Given the description of an element on the screen output the (x, y) to click on. 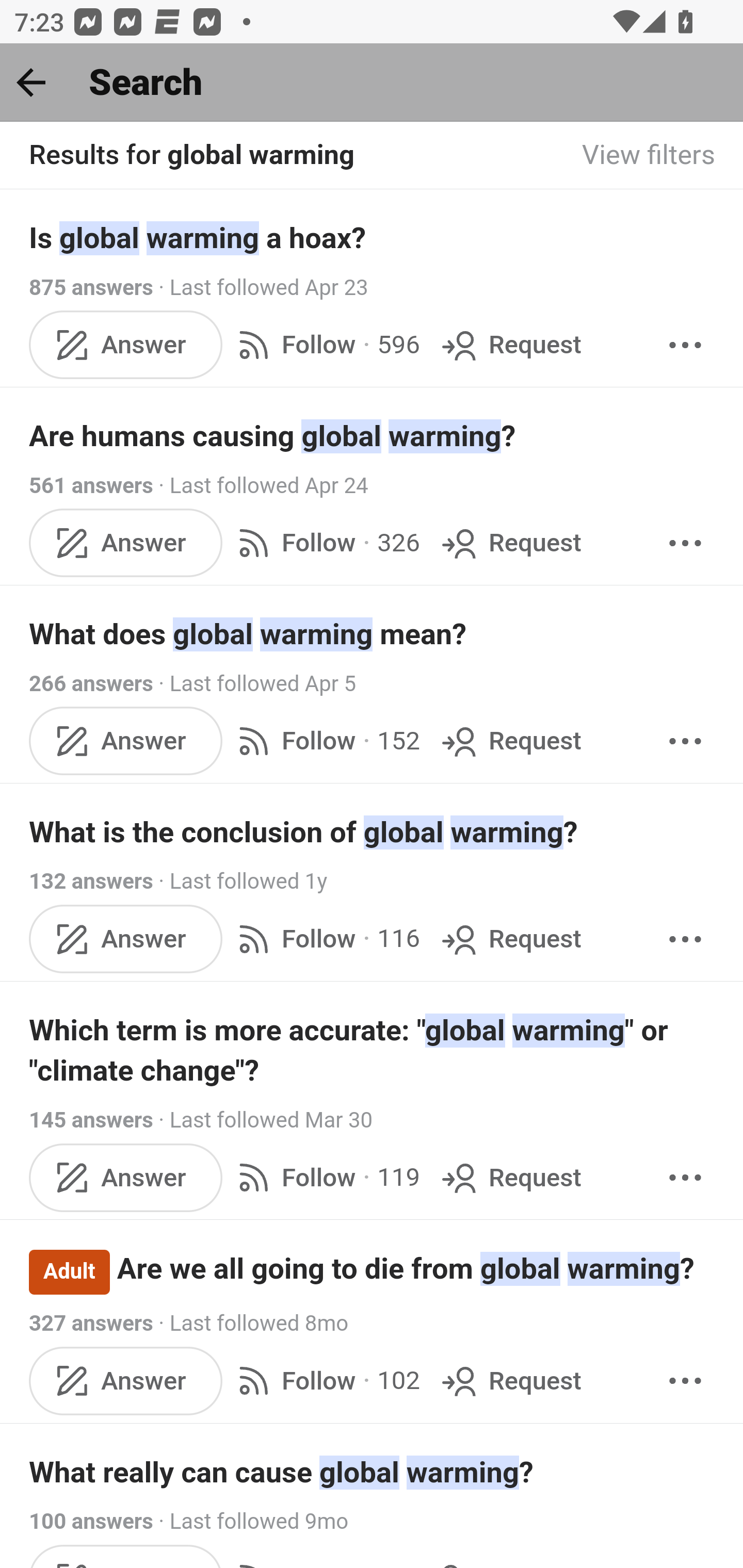
Back Search (371, 82)
Back (30, 82)
View filters (648, 155)
Is global warming a hoax? (372, 237)
875 answers 875  answers (90, 287)
Answer (125, 343)
Follow · 596 (324, 343)
Request (509, 343)
More (684, 343)
Are humans causing global warming? (372, 436)
561 answers 561  answers (90, 484)
Answer (125, 543)
Follow · 326 (324, 543)
Request (509, 543)
More (684, 543)
What does global warming mean? (372, 634)
266 answers 266  answers (90, 684)
Answer (125, 741)
Follow · 152 (324, 741)
Request (509, 741)
More (684, 741)
What is the conclusion of global warming? (372, 832)
132 answers 132  answers (90, 881)
Answer (125, 939)
Follow · 116 (324, 939)
Request (509, 939)
More (684, 939)
145 answers 145  answers (90, 1120)
Answer (125, 1176)
Follow · 119 (324, 1176)
Request (509, 1176)
More (684, 1176)
Adult Are we all going to die from global warming? (372, 1271)
327 answers 327  answers (90, 1324)
Answer (125, 1380)
Follow · 102 (324, 1380)
Request (509, 1380)
More (684, 1380)
What really can cause global warming? (372, 1472)
100 answers 100  answers (90, 1521)
